Given the description of an element on the screen output the (x, y) to click on. 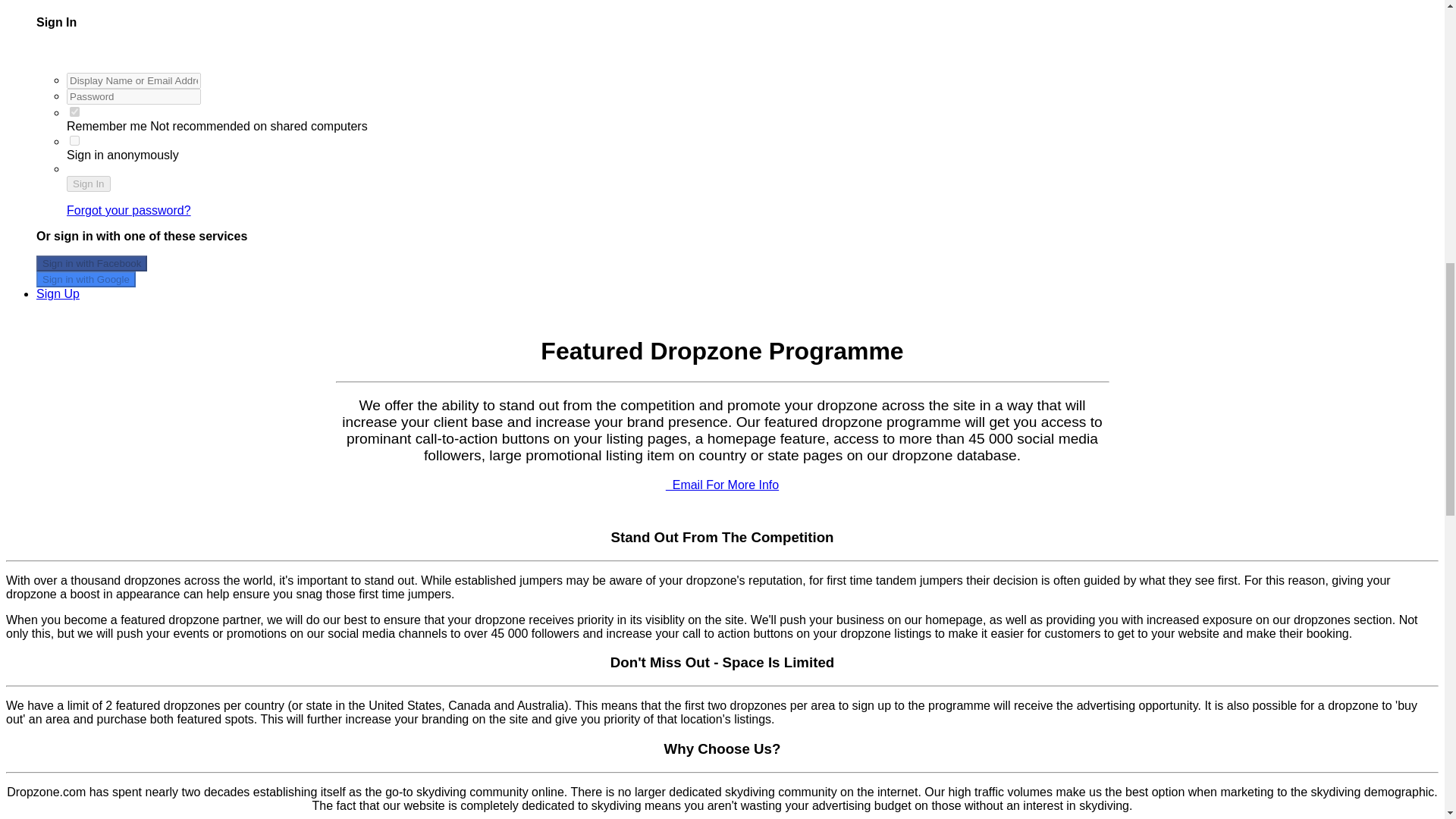
1 (74, 140)
1 (74, 112)
Sign Up (58, 293)
Sign In (88, 183)
Sign in with Google (85, 279)
Forgot your password? (128, 210)
Sign in with Facebook (91, 263)
